Given the description of an element on the screen output the (x, y) to click on. 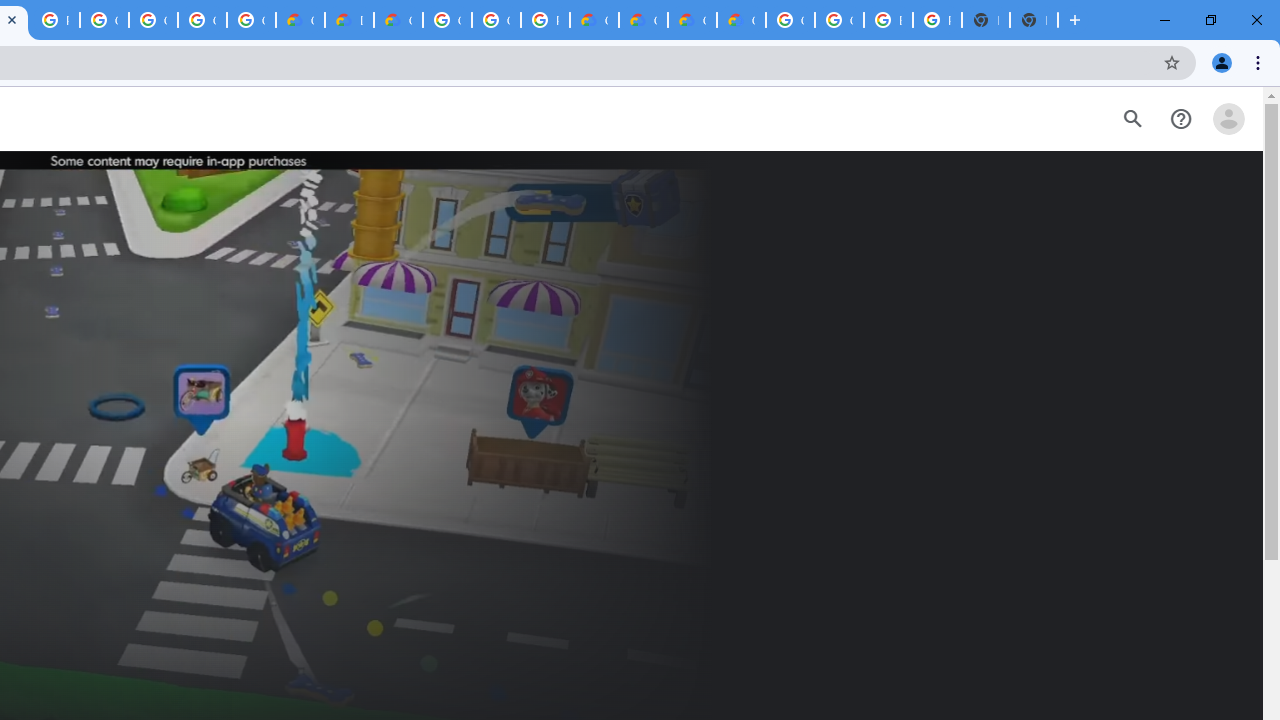
Google Workspace - Specific Terms (251, 20)
Customer Care | Google Cloud (300, 20)
New Tab (1033, 20)
Google Cloud Platform (839, 20)
Google Cloud Platform (447, 20)
Google Cloud Service Health (740, 20)
Open account menu (1228, 119)
Google Workspace - Specific Terms (201, 20)
